Given the description of an element on the screen output the (x, y) to click on. 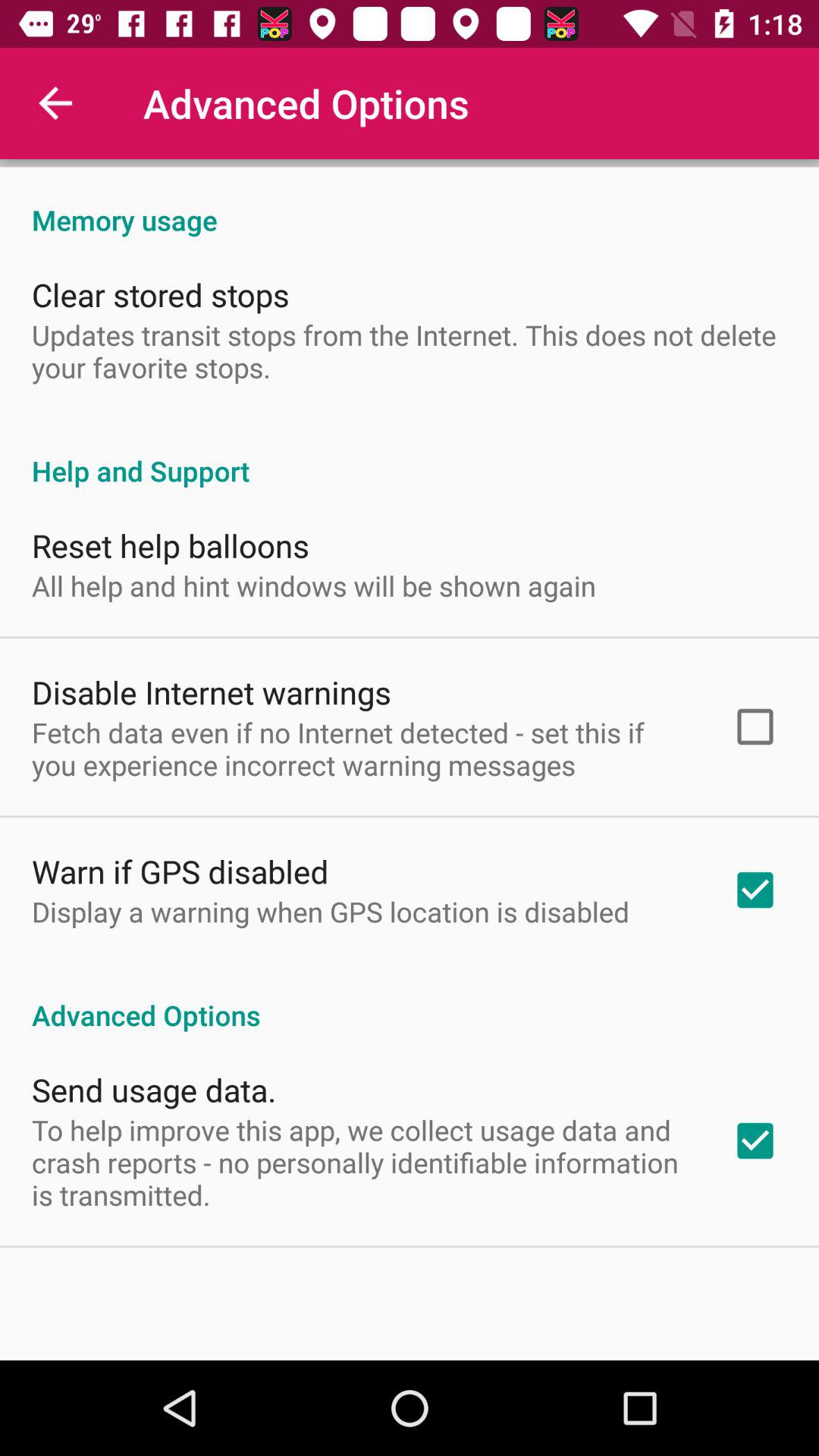
jump to reset help balloons (170, 545)
